Given the description of an element on the screen output the (x, y) to click on. 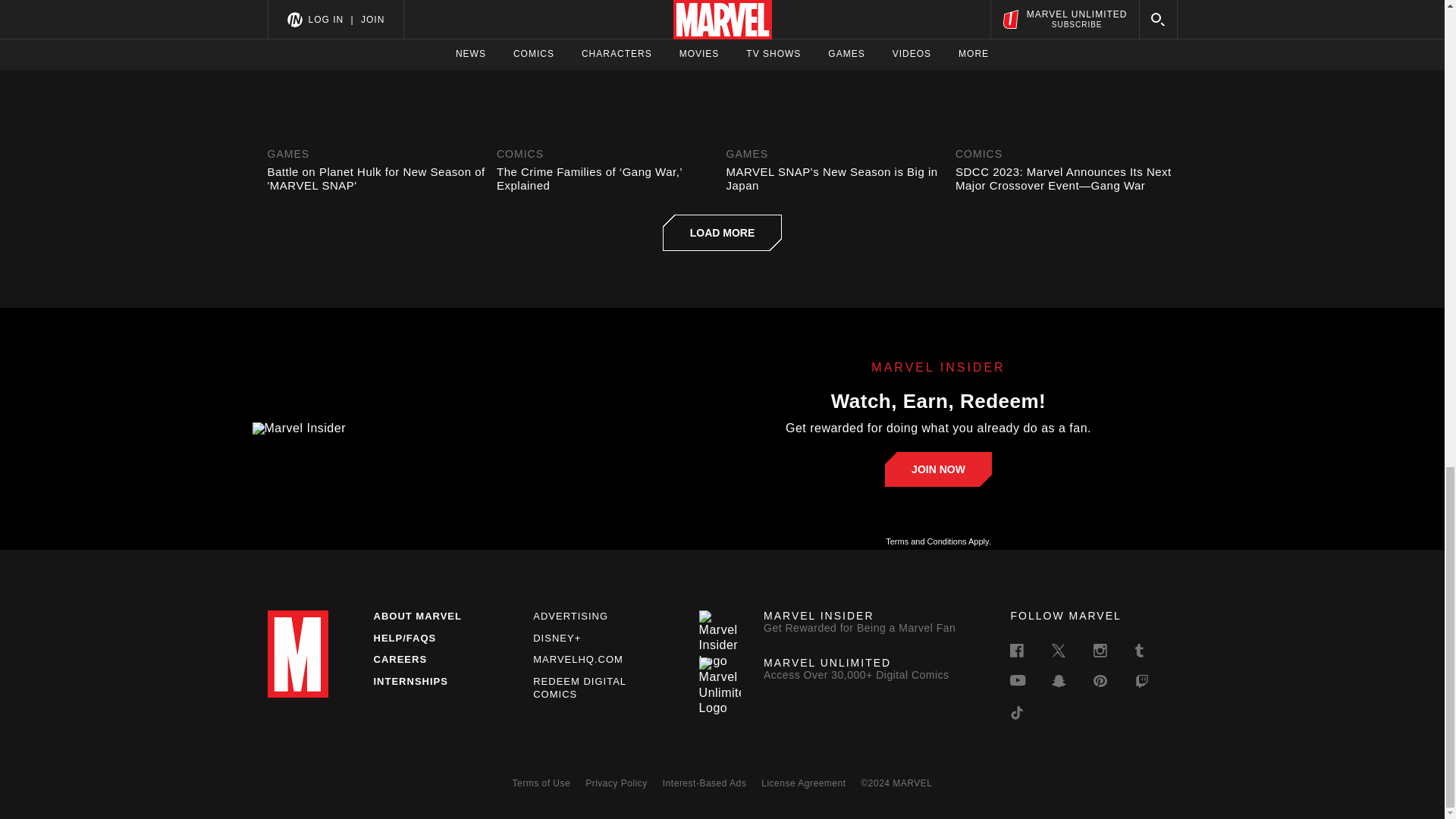
JOIN NOW (938, 469)
LOAD MORE (722, 232)
MARVELHQ.COM (577, 659)
REDEEM DIGITAL COMICS (579, 687)
MARVEL SNAP's New Season is Big in Japan (837, 178)
Battle on Planet Hulk for New Season of 'MARVEL SNAP' (377, 178)
CAREERS (399, 659)
ADVERTISING (570, 615)
ABOUT MARVEL (416, 615)
INTERNSHIPS (409, 681)
